Given the description of an element on the screen output the (x, y) to click on. 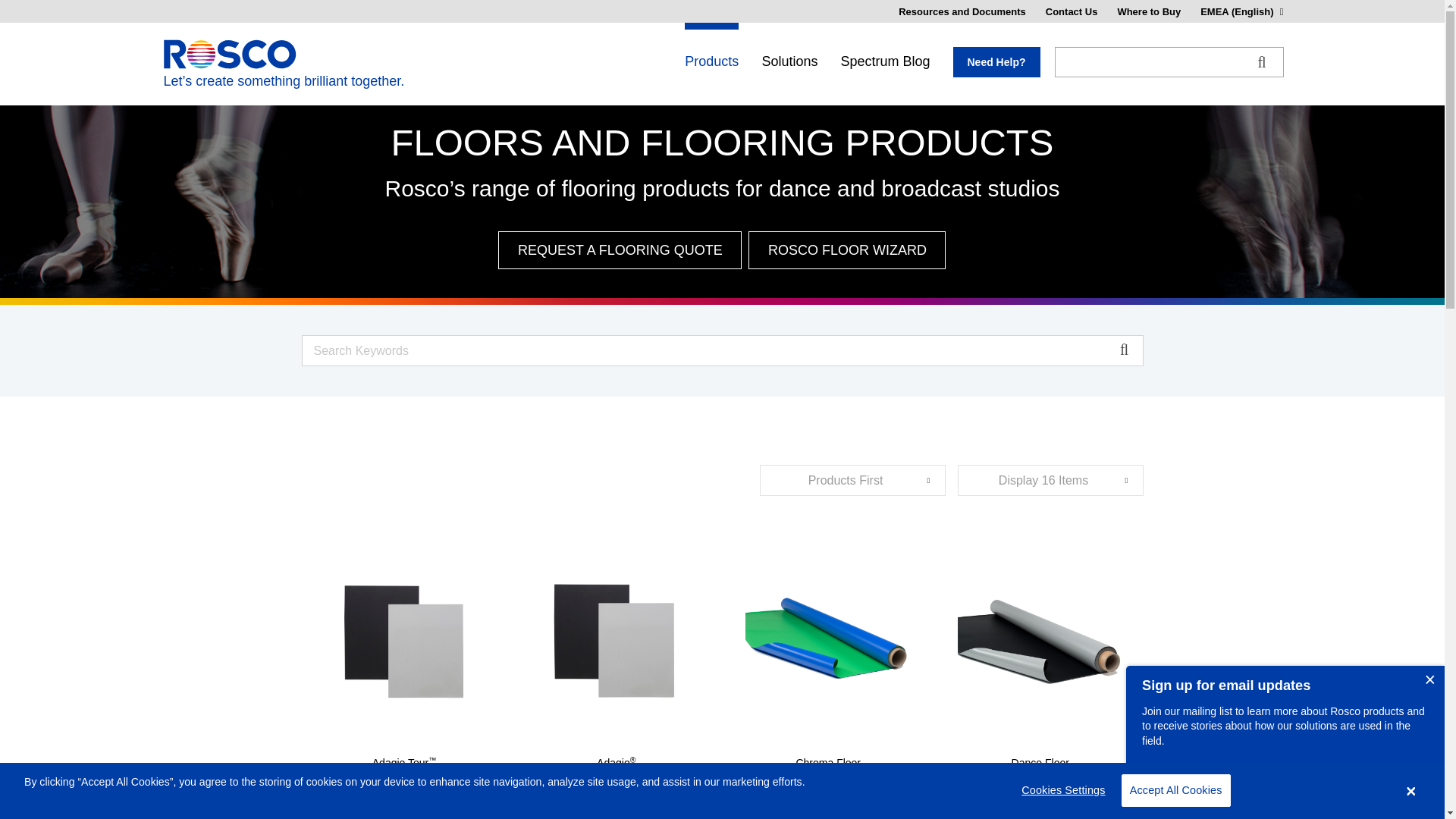
Products (711, 62)
search (1271, 53)
